Given the description of an element on the screen output the (x, y) to click on. 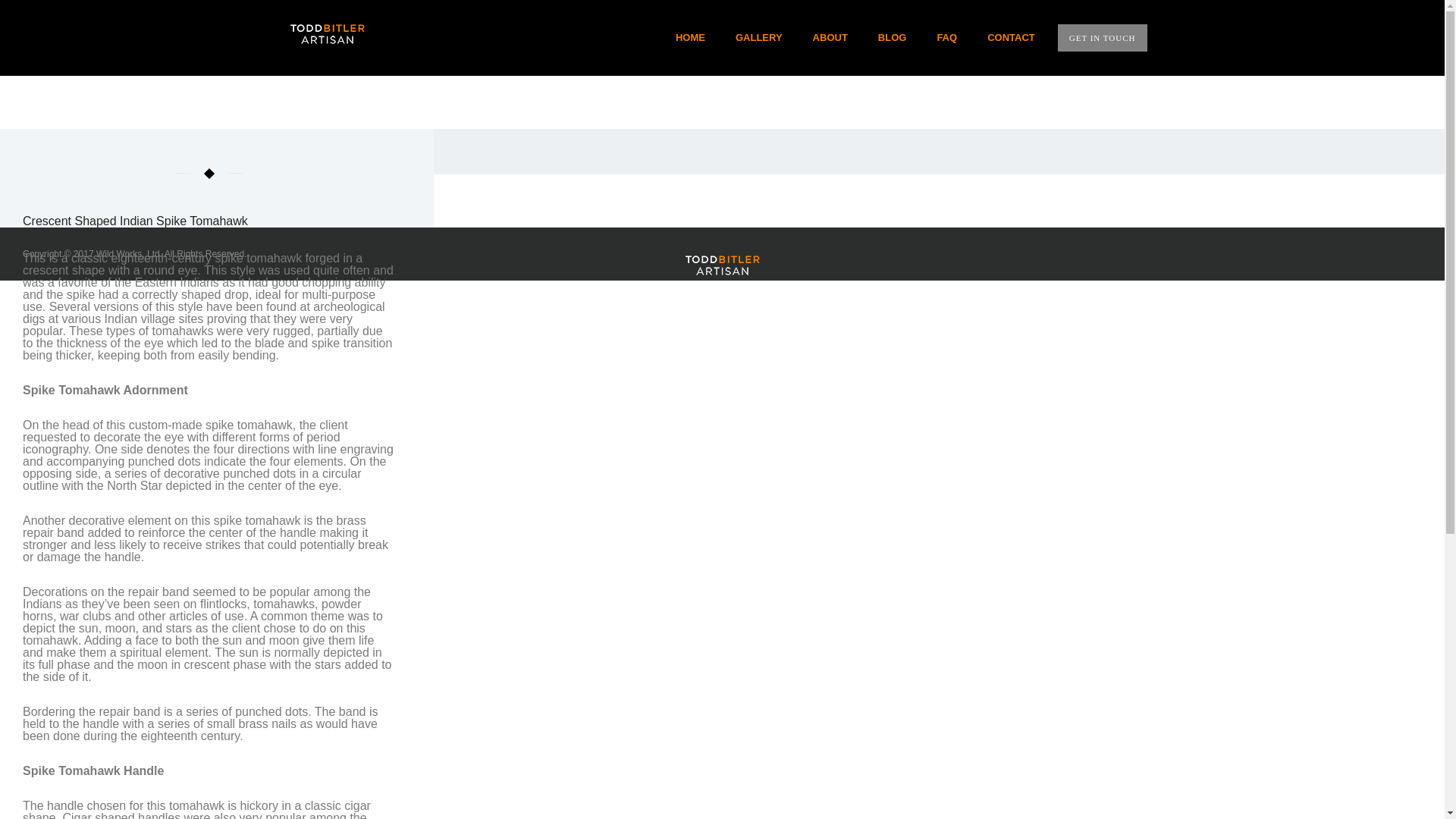
GALLERY (758, 37)
BLOG (892, 37)
CONTACT (1003, 37)
GET IN TOUCH (1102, 37)
ABOUT (830, 37)
FAQ (946, 37)
HOME (690, 37)
